Given the description of an element on the screen output the (x, y) to click on. 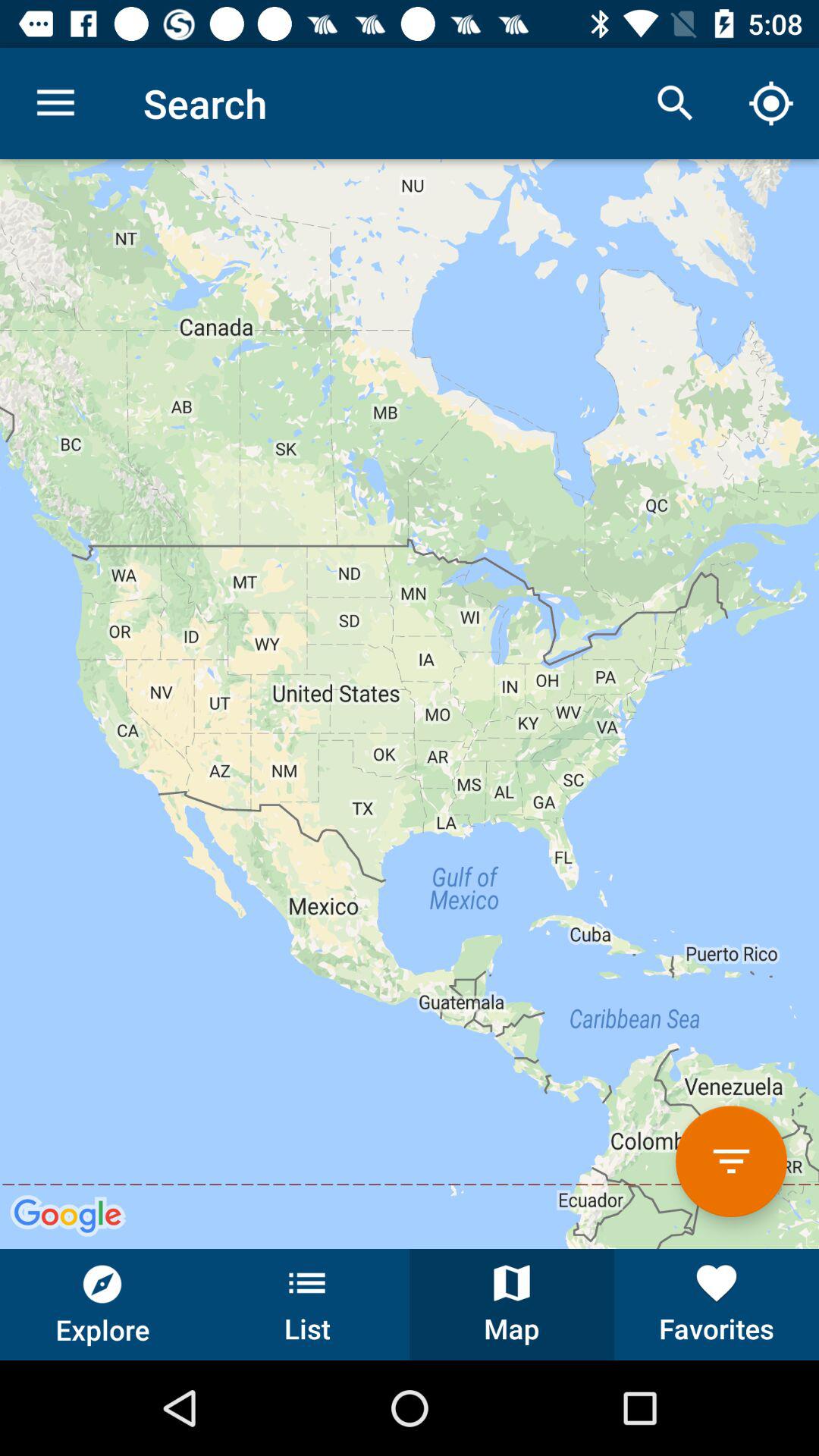
launch item next to list button (102, 1304)
